Given the description of an element on the screen output the (x, y) to click on. 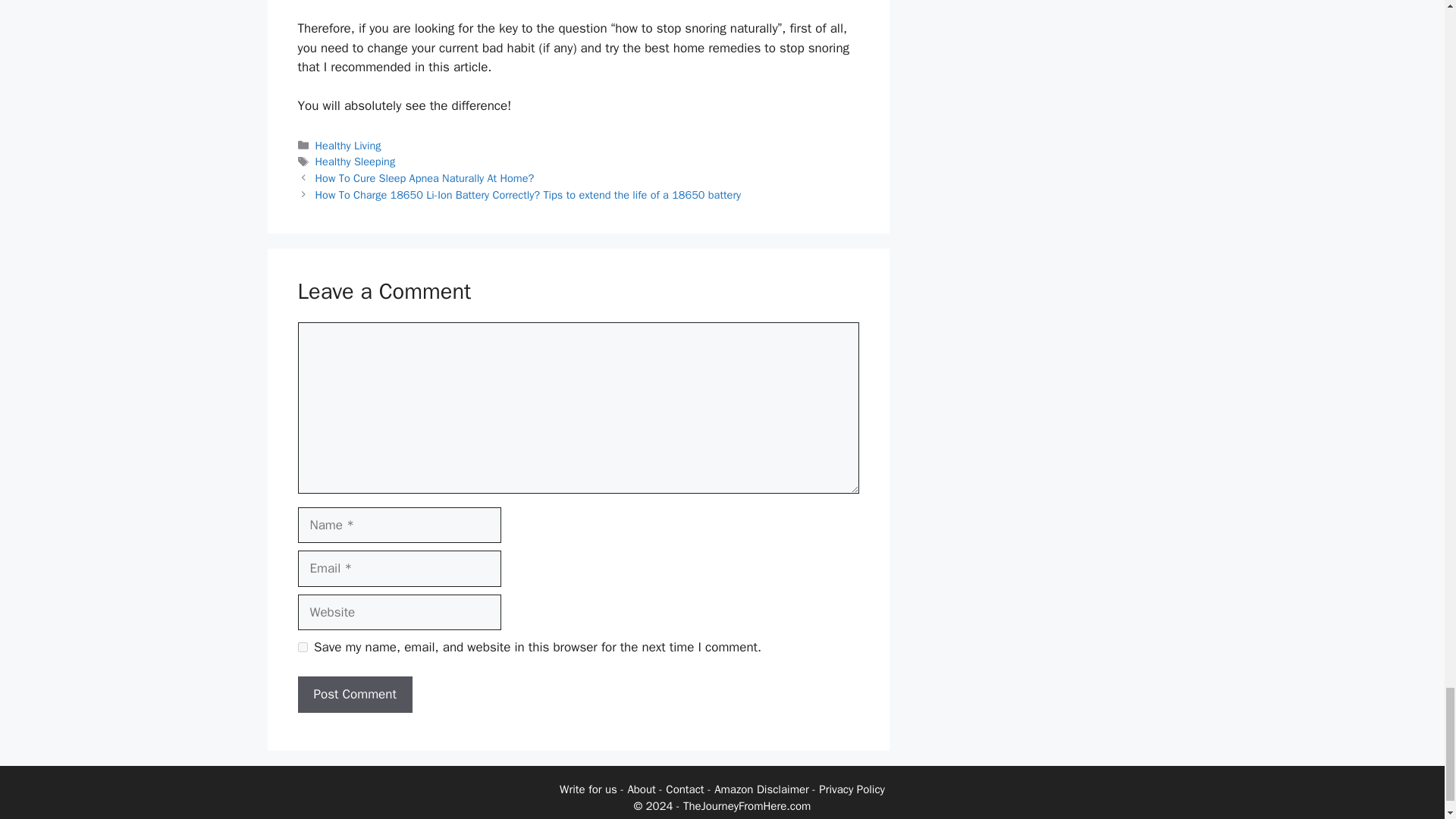
Healthy Sleeping (355, 161)
yes (302, 646)
How To Cure Sleep Apnea Naturally At Home? (424, 178)
Post Comment (354, 694)
Healthy Living (348, 145)
